Given the description of an element on the screen output the (x, y) to click on. 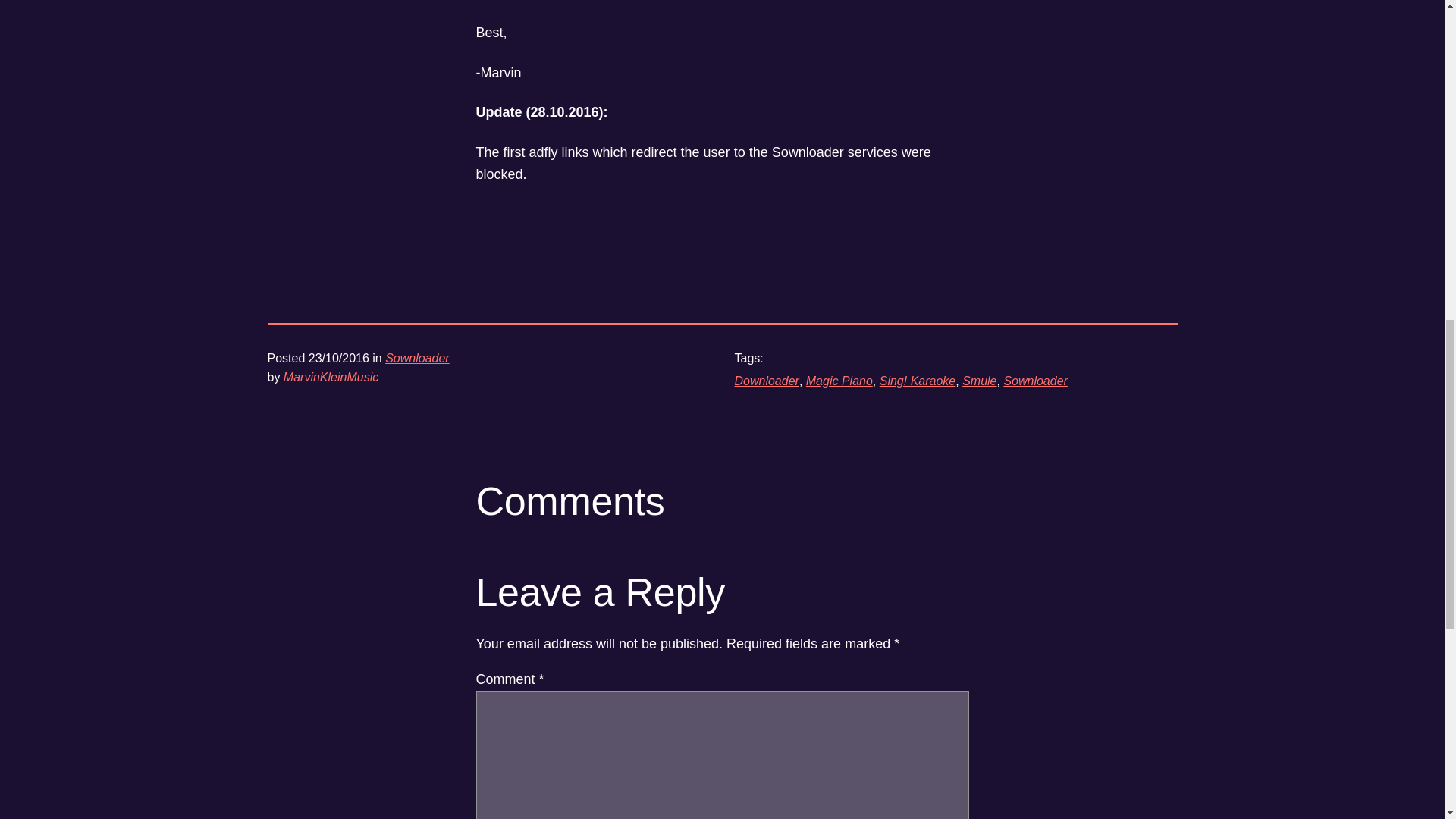
Sownloader (1035, 380)
Sing! Karaoke (917, 380)
Smule (978, 380)
Sownloader (417, 358)
Magic Piano (839, 380)
Downloader (765, 380)
